Given the description of an element on the screen output the (x, y) to click on. 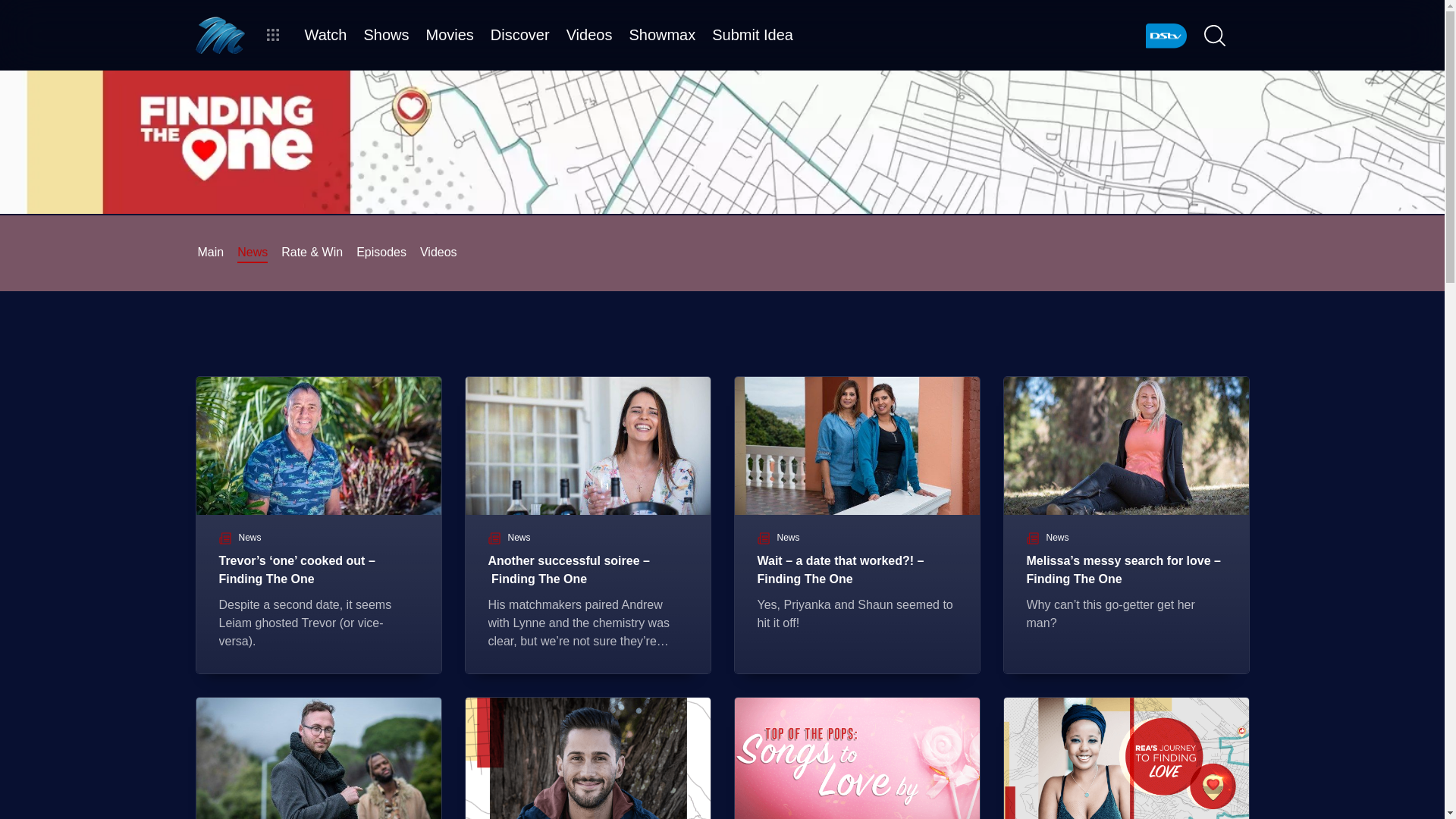
Main (210, 252)
Episodes (381, 252)
Videos (438, 252)
News (252, 252)
